Given the description of an element on the screen output the (x, y) to click on. 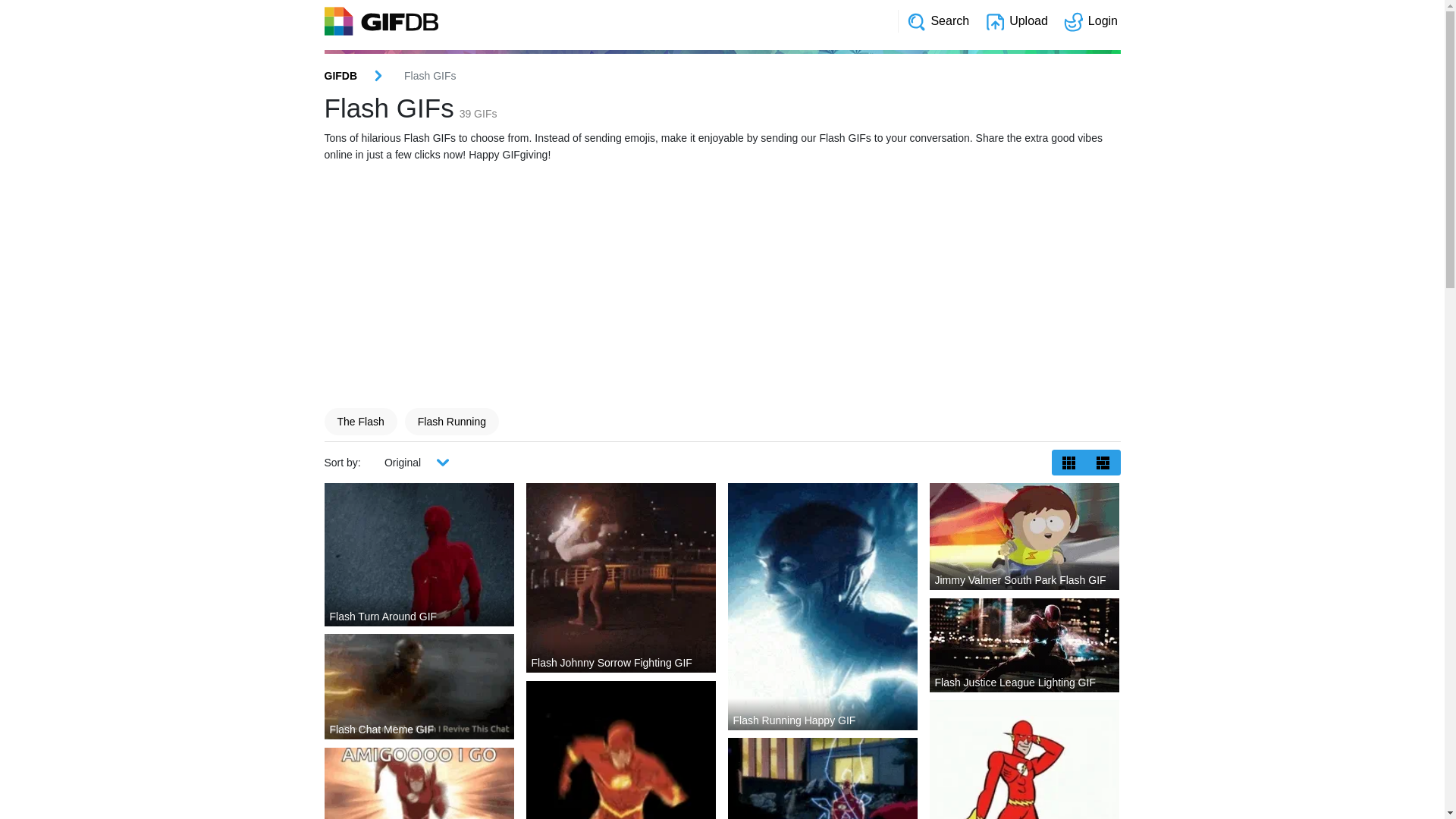
Flash Running Happy GIF Element type: hover (822, 606)
The Flash Element type: text (359, 421)
Flash Justice League Lighting GIF Element type: hover (1024, 645)
Flash Johnny Sorrow Fighting GIF Element type: hover (620, 577)
Jimmy Valmer South Park Flash GIF Element type: hover (1024, 536)
Flash Turn Around GIF Element type: hover (419, 554)
Flash Chat Meme GIF Element type: hover (419, 686)
GIFDB Element type: text (340, 75)
Flash Running Element type: text (451, 421)
